Given the description of an element on the screen output the (x, y) to click on. 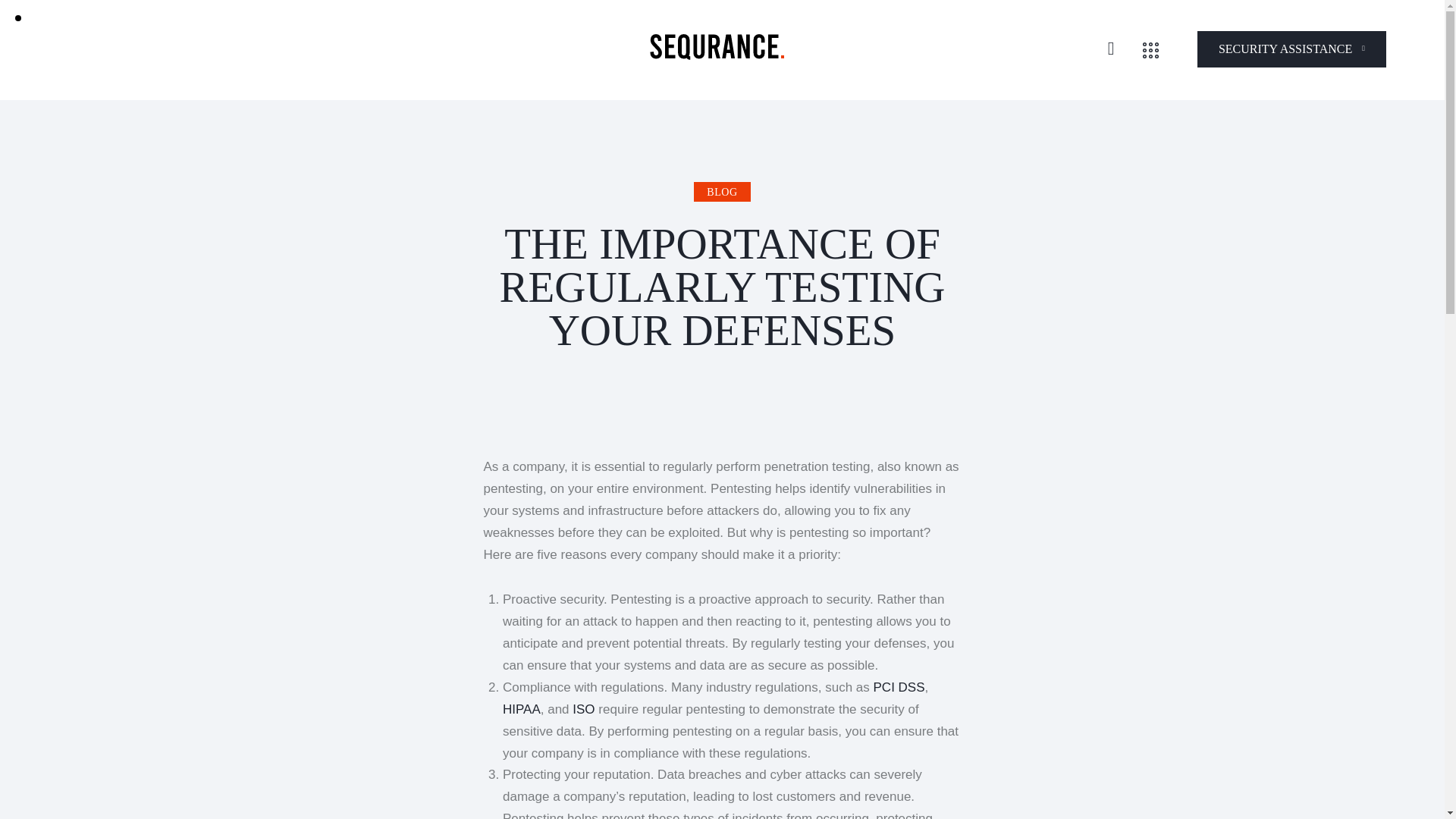
SECURITY ASSISTANCE (1291, 49)
PCI DSS (898, 687)
BLOG (722, 191)
